Given the description of an element on the screen output the (x, y) to click on. 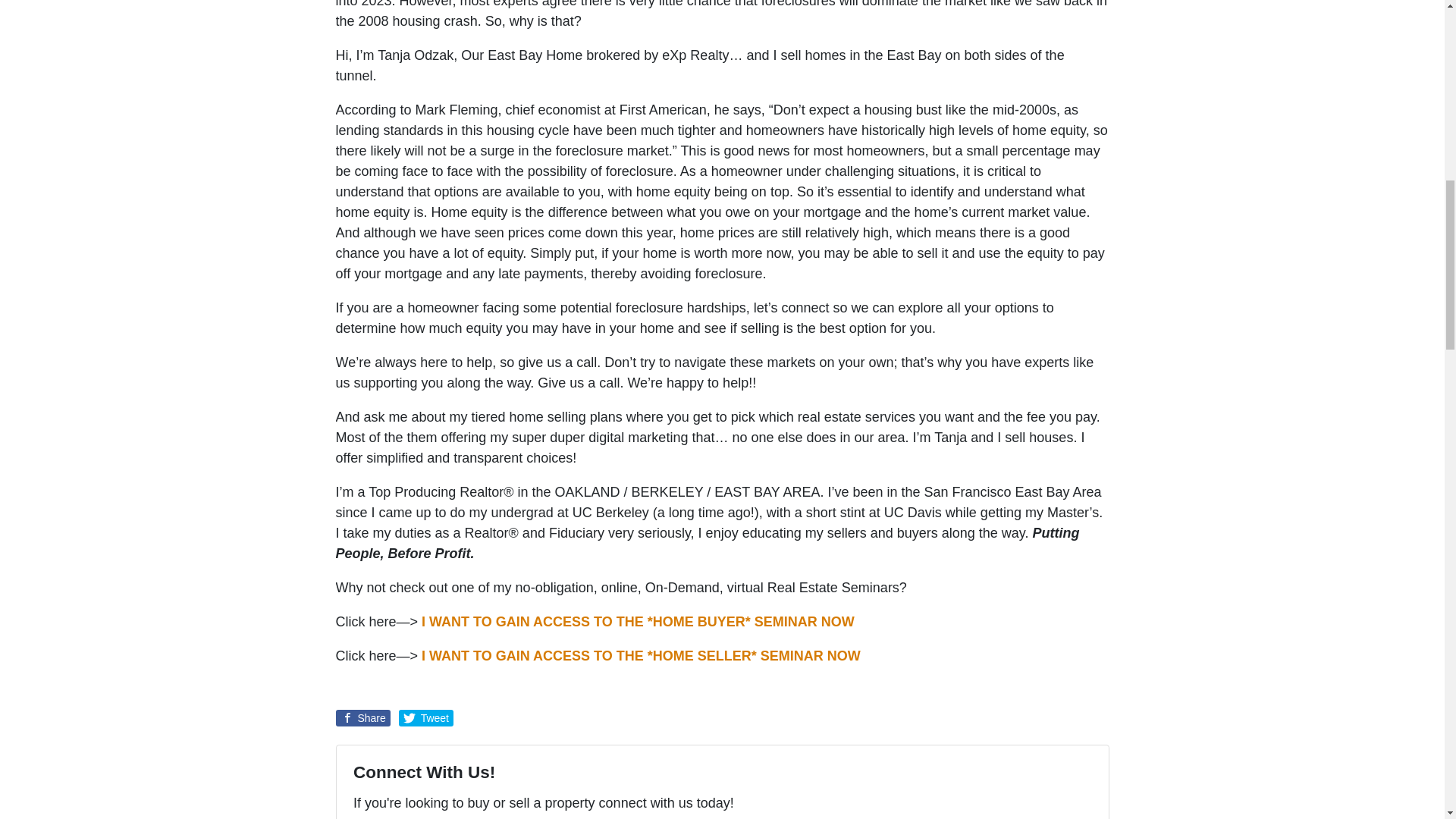
Share on Twitter (425, 718)
Tweet (425, 718)
Share on Facebook (362, 718)
Share (362, 718)
